Given the description of an element on the screen output the (x, y) to click on. 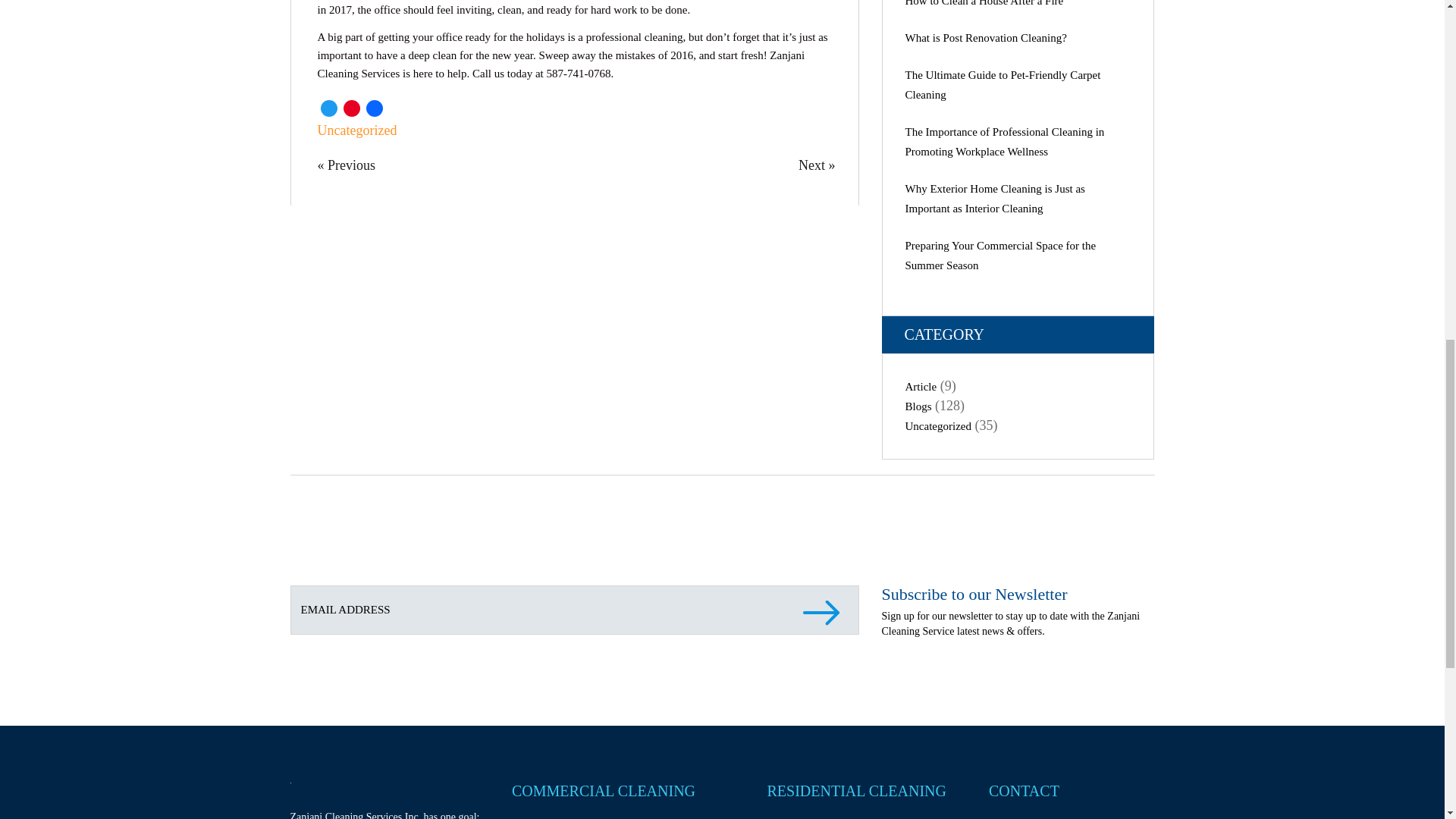
Pinterest (350, 108)
Twitter (328, 108)
The Ultimate Guide to Pet-Friendly Carpet Cleaning (1002, 84)
Blogs (918, 406)
Facebook (373, 108)
Article (921, 386)
Uncategorized (938, 426)
Twitter (328, 108)
Subscribe (822, 623)
What is Post Renovation Cleaning? (986, 37)
